Given the description of an element on the screen output the (x, y) to click on. 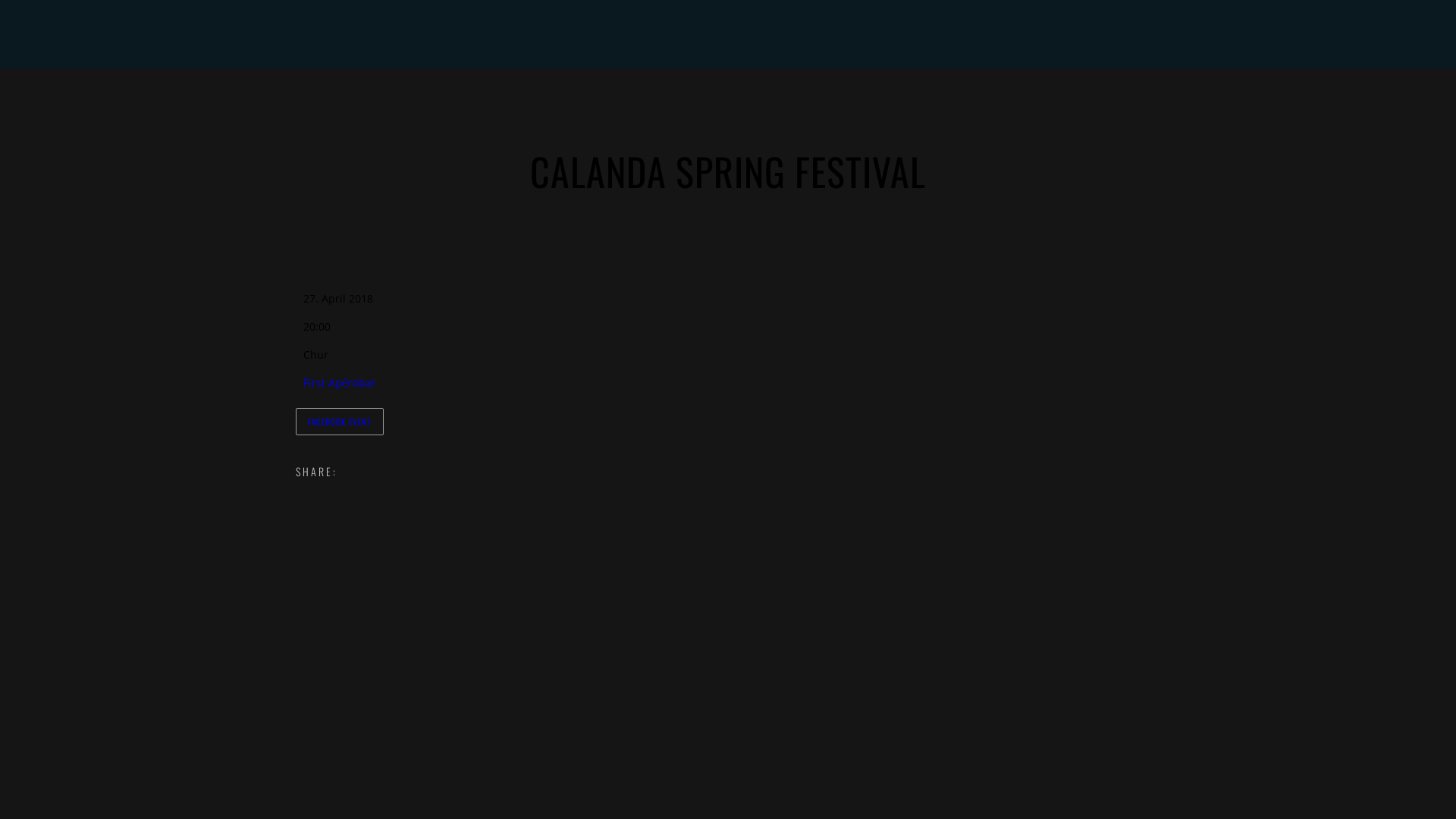
FACEBOOK EVENT Element type: text (339, 421)
